Given the description of an element on the screen output the (x, y) to click on. 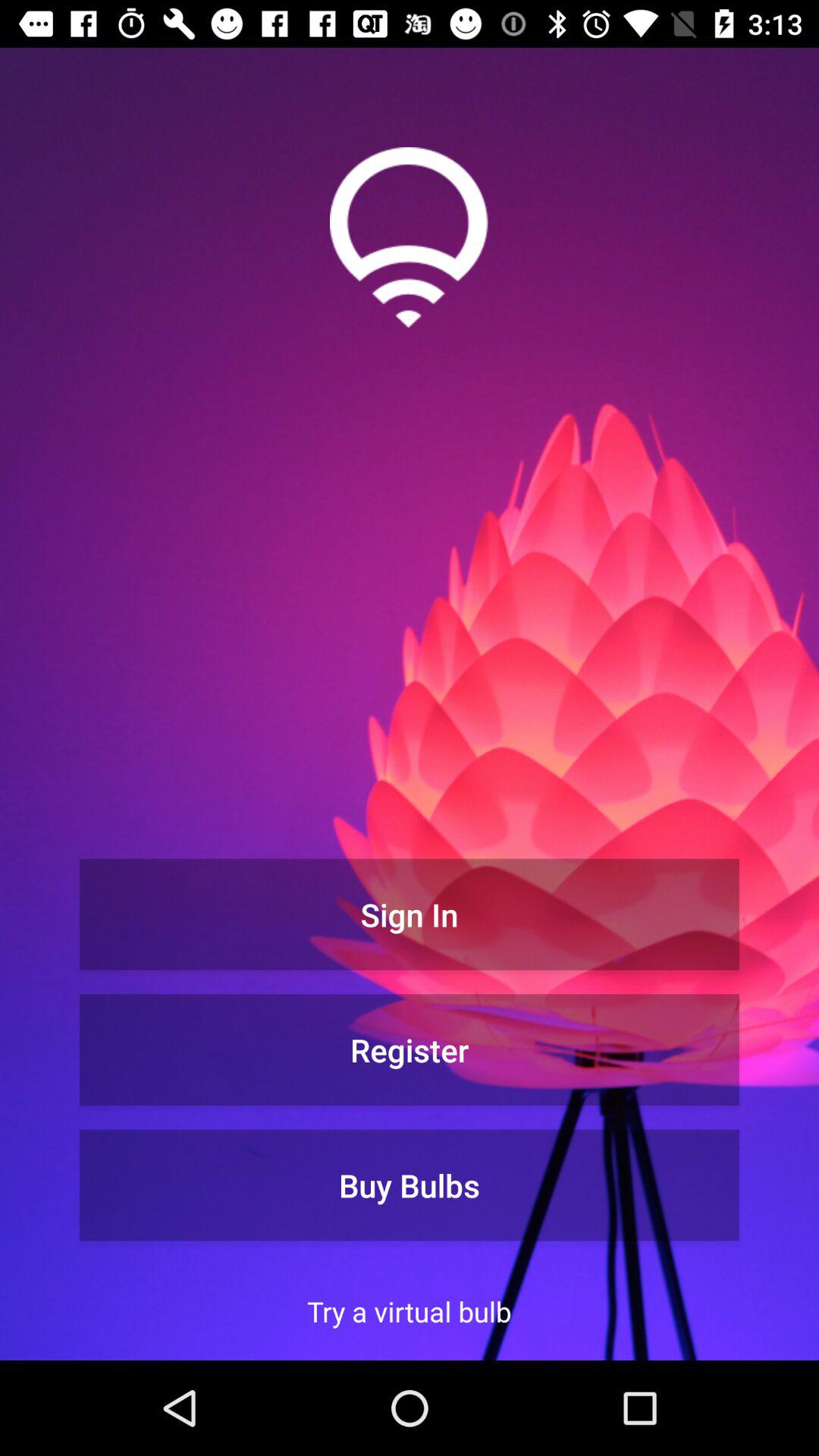
jump to the register item (409, 1049)
